Given the description of an element on the screen output the (x, y) to click on. 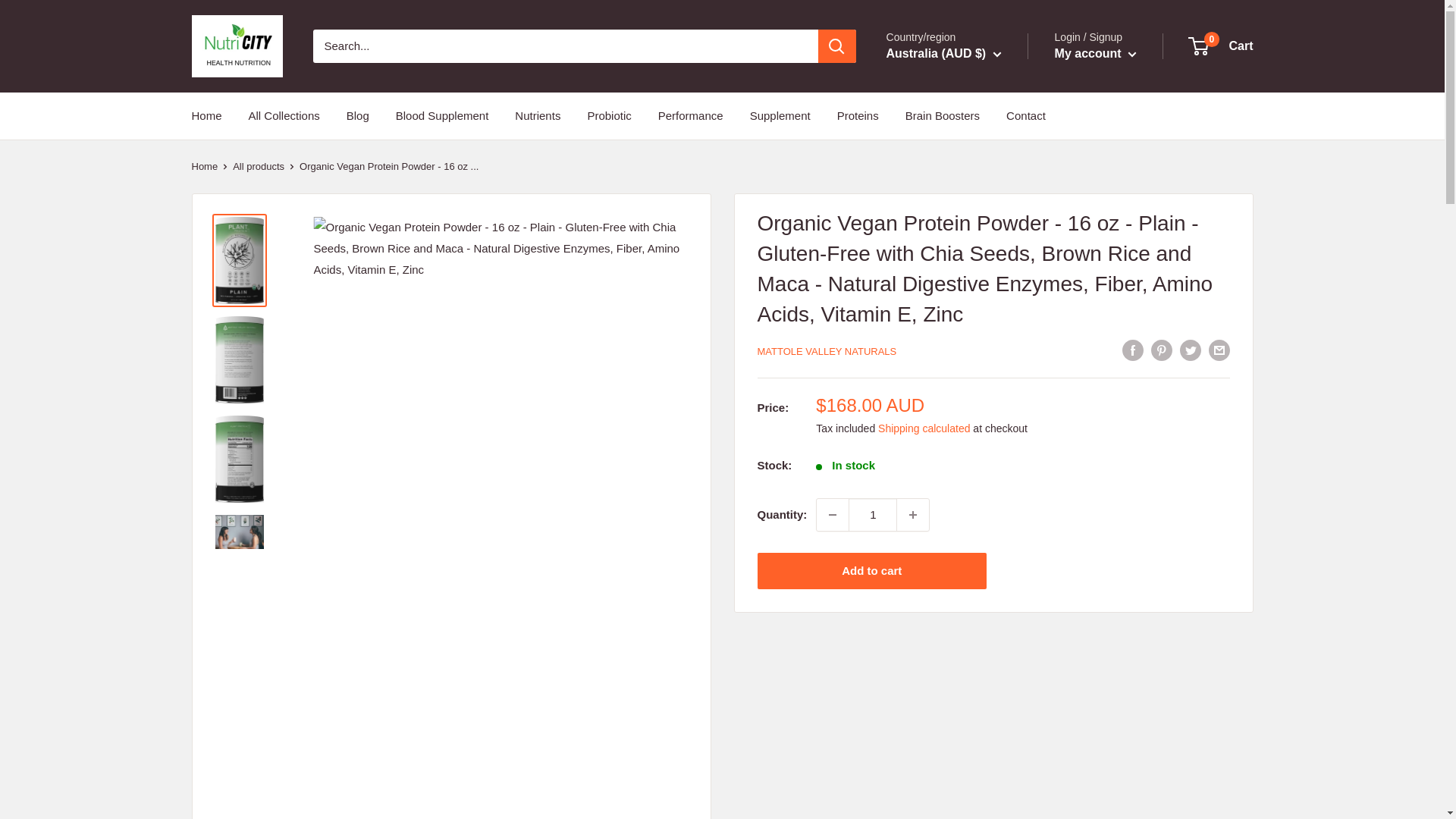
HK (923, 299)
Increase quantity by 1 (912, 514)
Decrease quantity by 1 (832, 514)
CZ (923, 190)
DK (923, 211)
AU (923, 102)
AT (923, 124)
FR (923, 255)
JP (923, 386)
1 (872, 514)
